Given the description of an element on the screen output the (x, y) to click on. 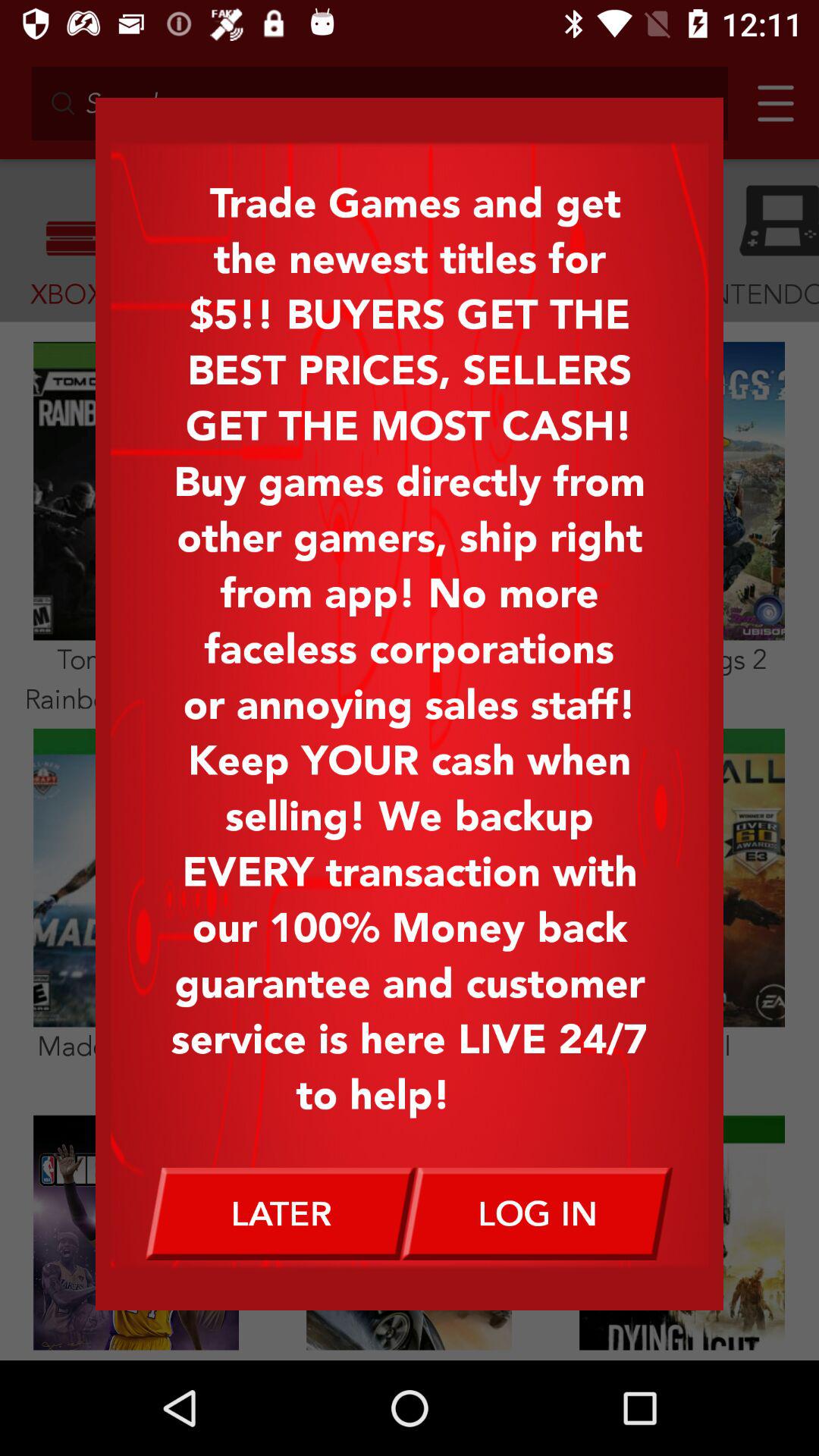
jump to log in icon (537, 1213)
